Given the description of an element on the screen output the (x, y) to click on. 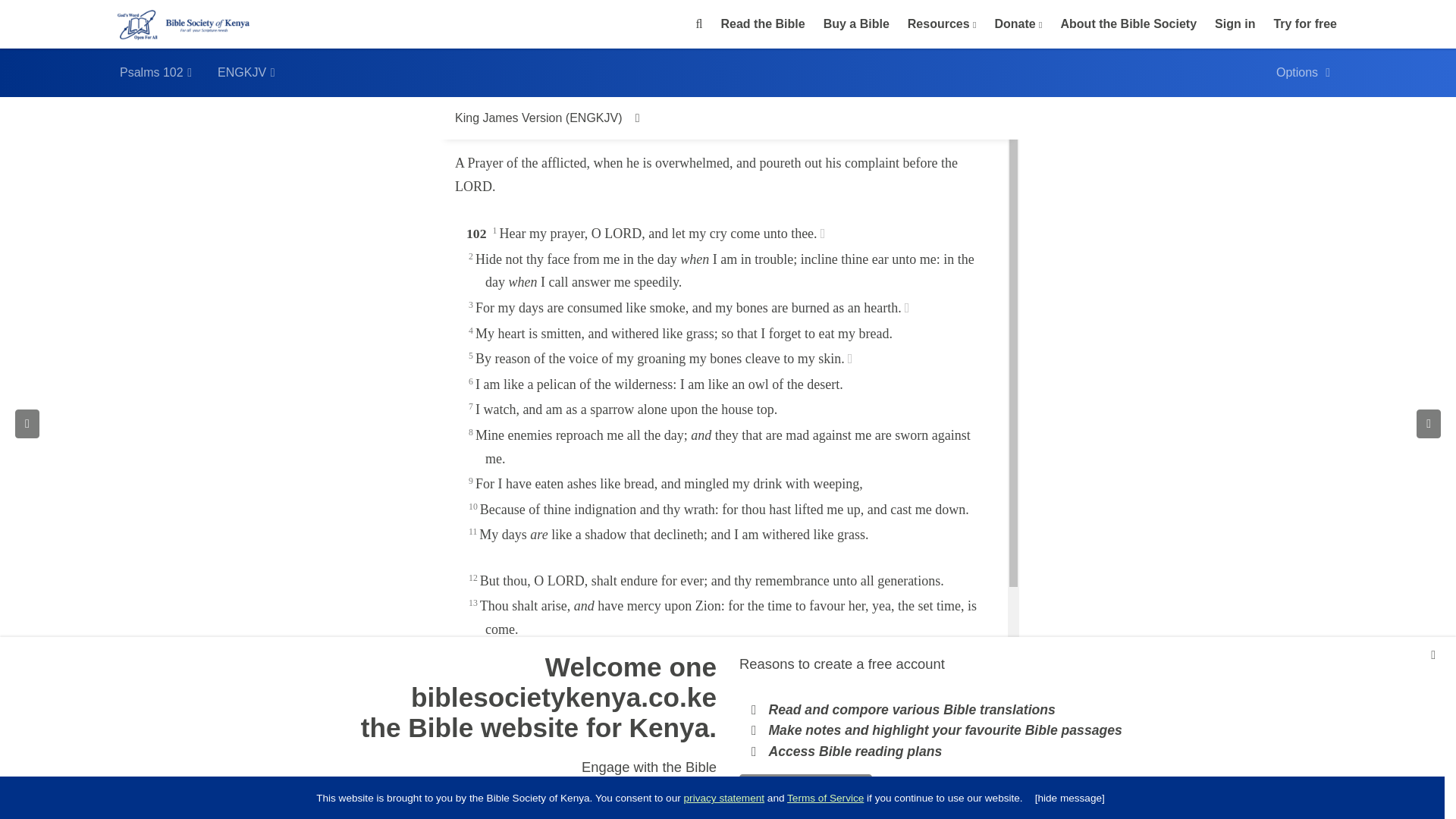
Options (1302, 72)
ENGKJV (245, 72)
Sign in (1234, 24)
Try for free (1304, 24)
Resources (939, 23)
Donate (1016, 23)
About the Bible Society (1128, 24)
Psalms 102 (156, 72)
Read the Bible (762, 24)
Buy a Bible (855, 24)
